Given the description of an element on the screen output the (x, y) to click on. 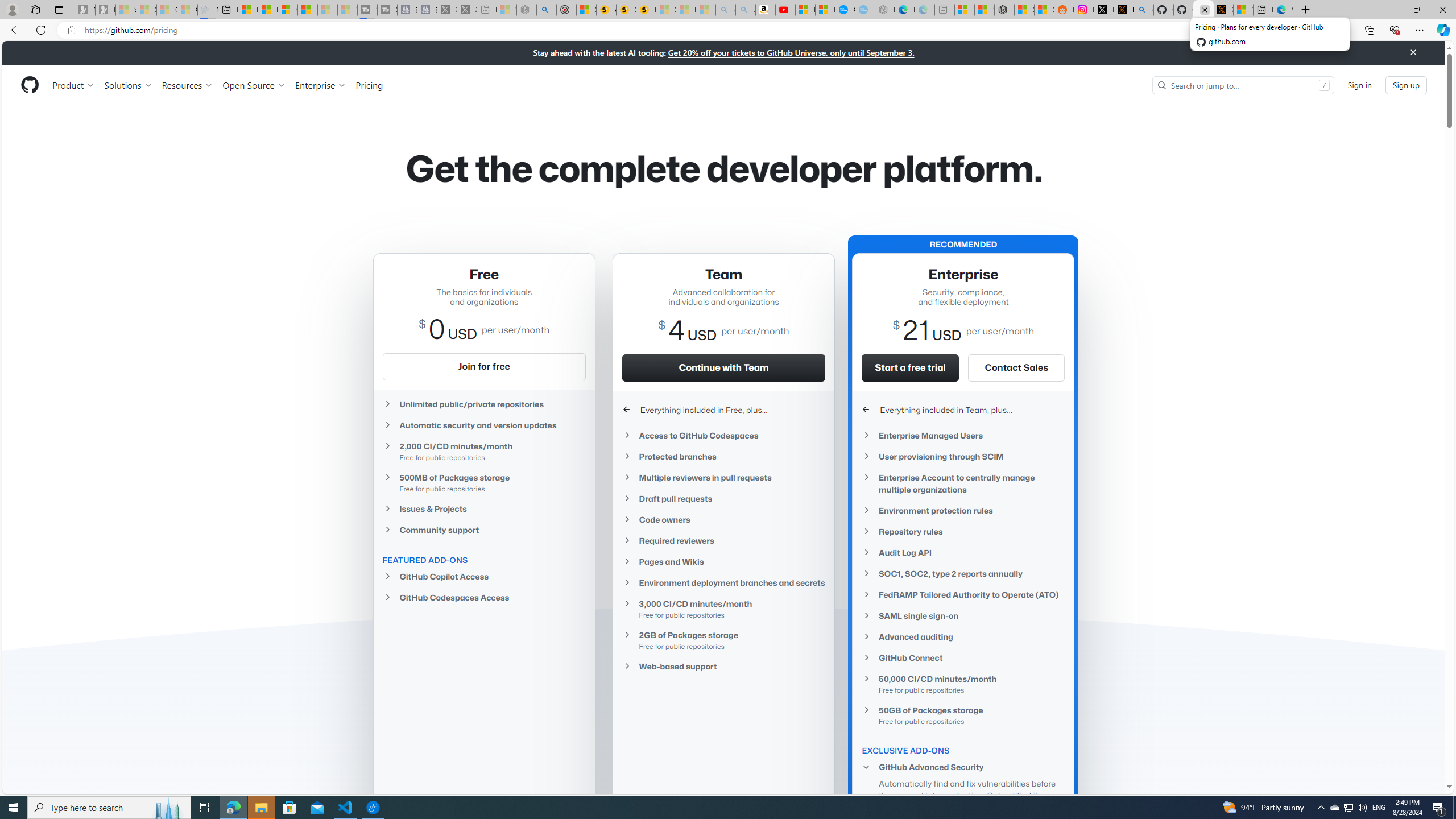
Homepage (29, 85)
Environment deployment branches and secrets (723, 582)
Open Source (254, 84)
SAML single sign-on (963, 615)
Audit Log API (963, 552)
Pages and Wikis (723, 561)
Environment protection rules (963, 510)
User provisioning through SCIM (963, 456)
Code owners (723, 519)
Advanced auditing (963, 636)
50GB of Packages storageFree for public repositories (963, 714)
